Given the description of an element on the screen output the (x, y) to click on. 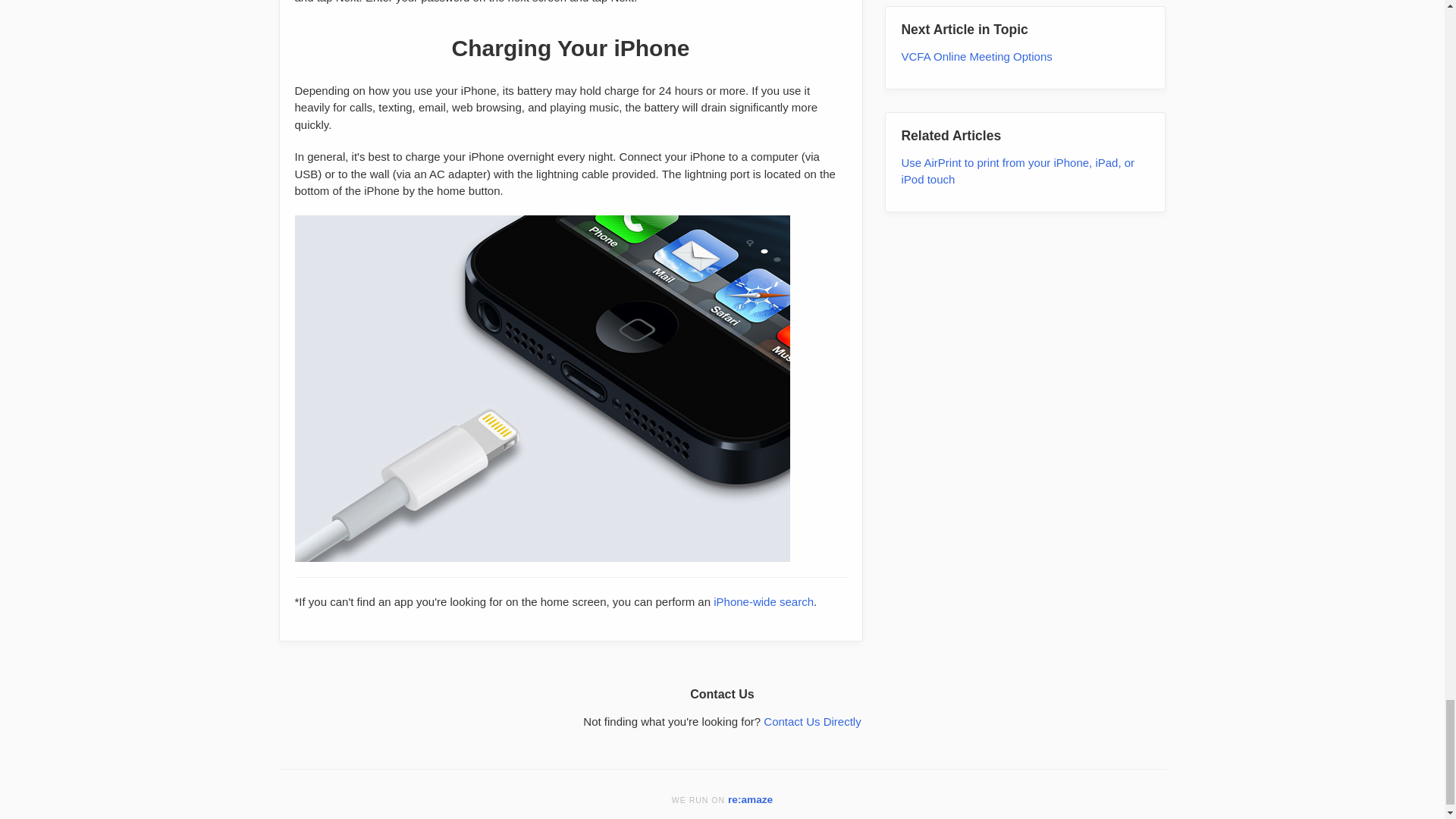
Contact Us Directly (811, 721)
re:amaze (750, 799)
iPhone-wide search (763, 601)
